Given the description of an element on the screen output the (x, y) to click on. 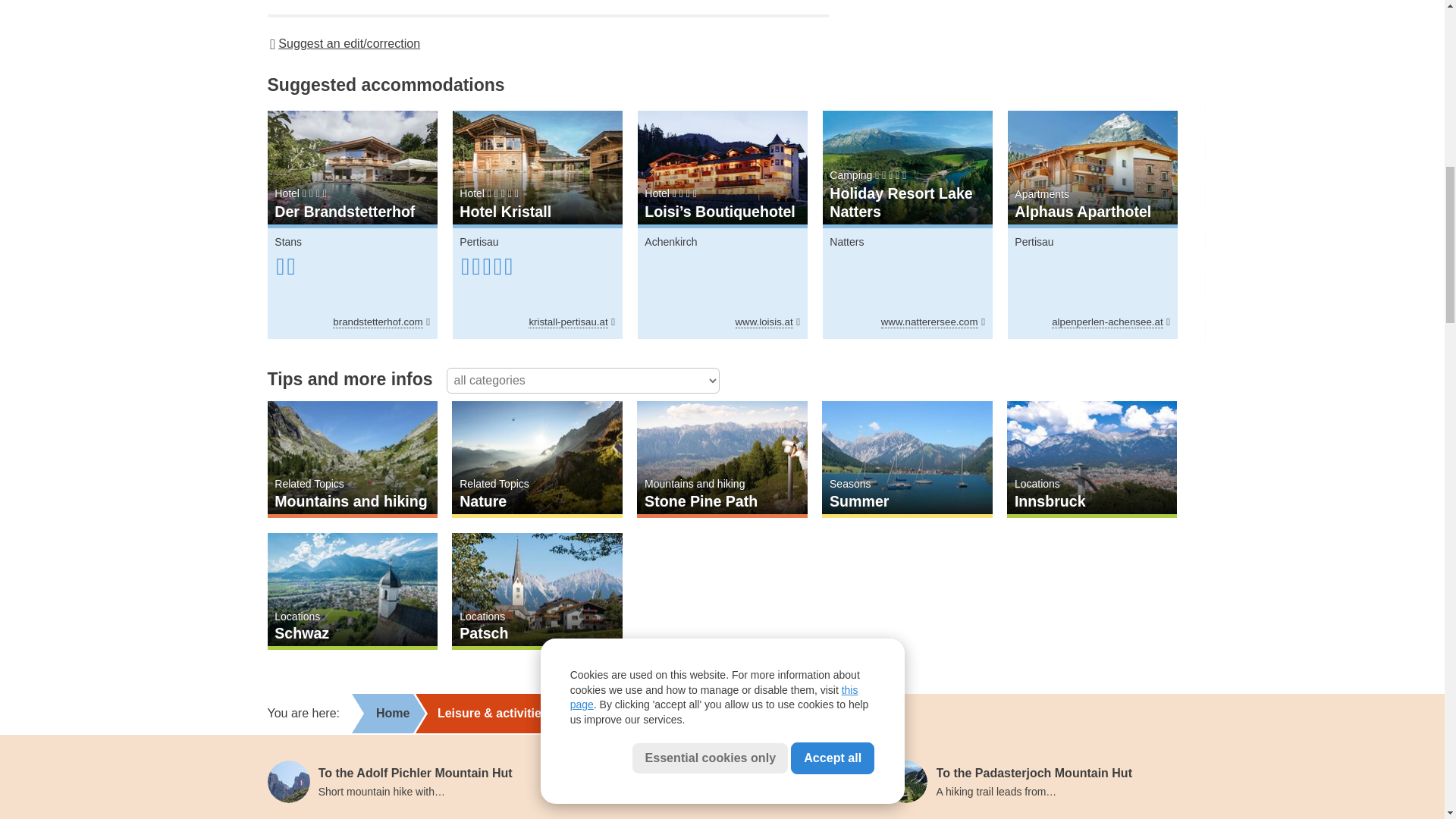
Hotel Kristall (536, 167)
Information about Stans (288, 241)
Der Brandstetterhof (351, 167)
Hotel 4 stars (352, 193)
